Given the description of an element on the screen output the (x, y) to click on. 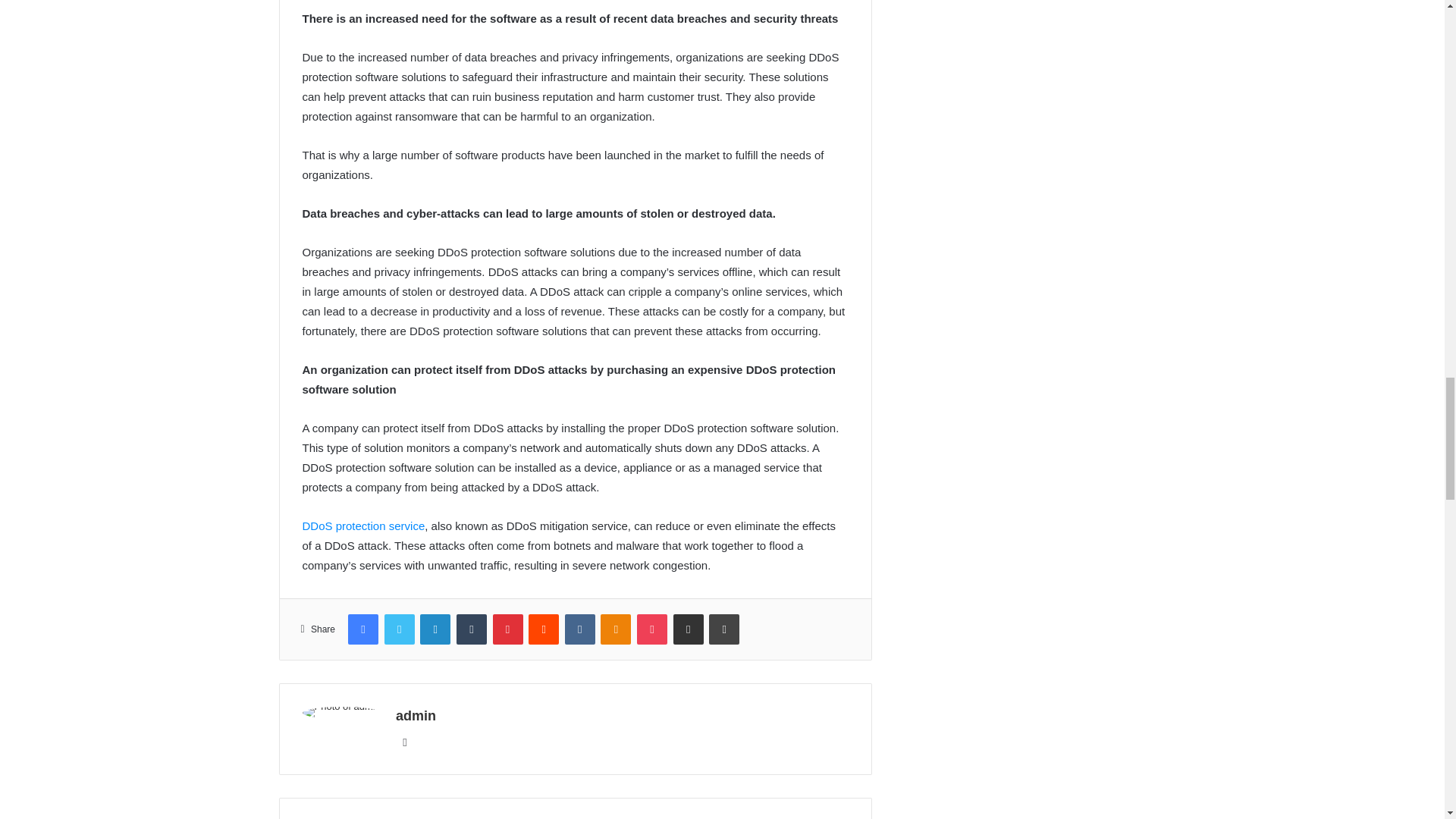
DDoS protection service (363, 525)
